Given the description of an element on the screen output the (x, y) to click on. 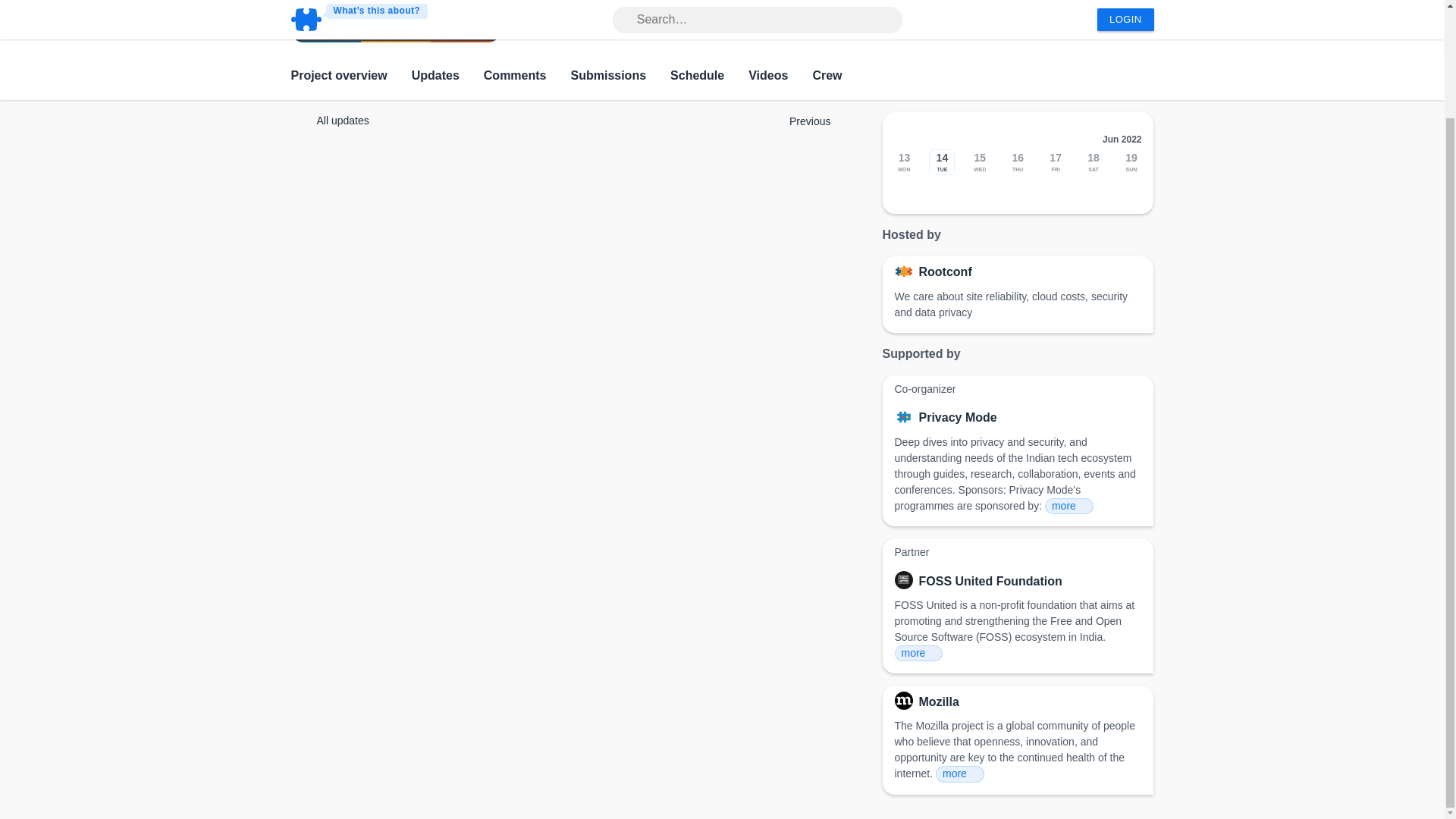
more (1069, 505)
Updates (436, 76)
Schedule (696, 76)
Previous (817, 121)
FOSS United Foundation (990, 581)
Submissions (608, 76)
Privacy Mode (957, 417)
Project overview (339, 76)
more (919, 652)
Rootconf (945, 271)
